Given the description of an element on the screen output the (x, y) to click on. 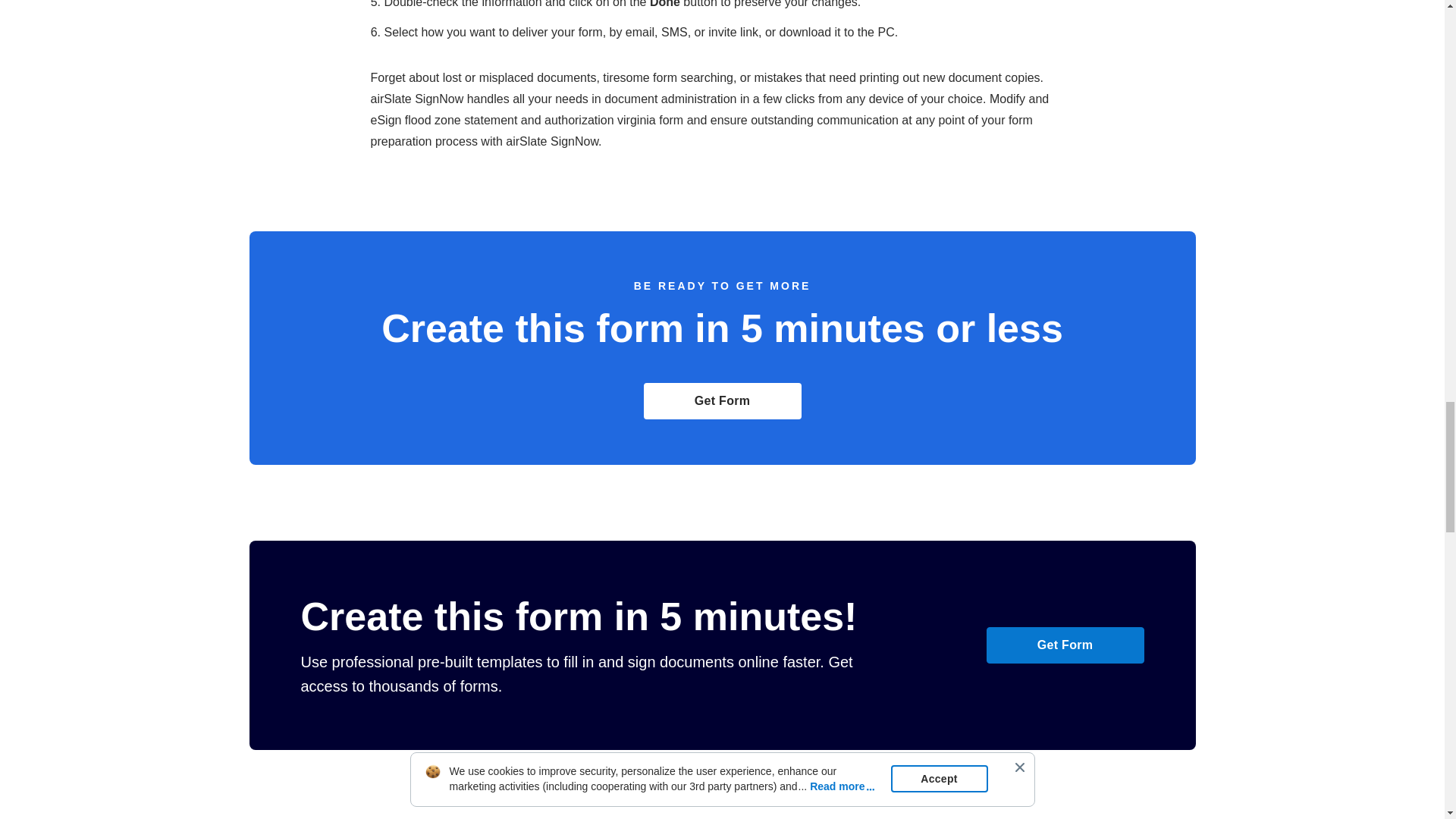
Get Form (721, 401)
Get Form (1063, 645)
